Given the description of an element on the screen output the (x, y) to click on. 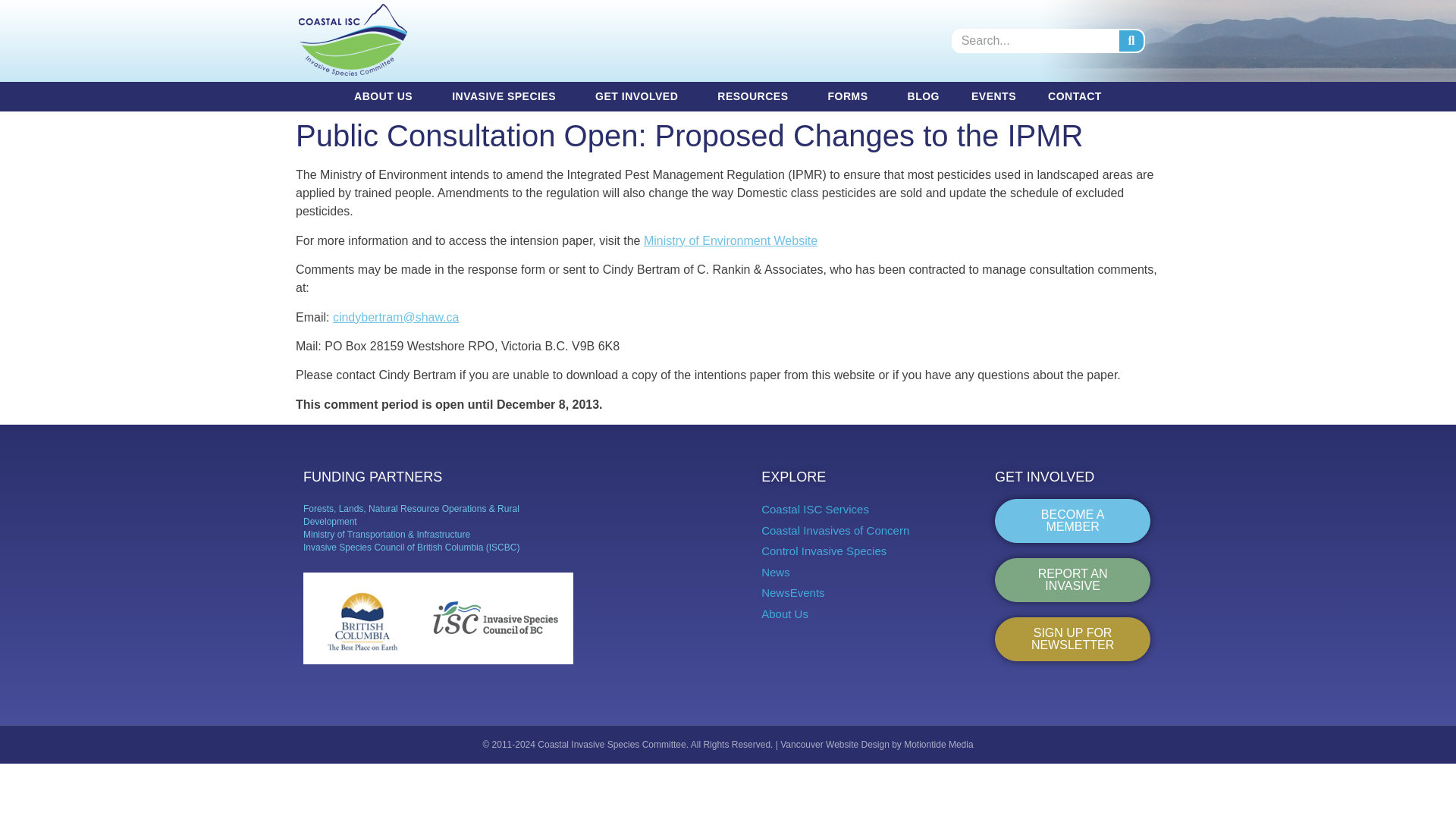
ABOUT US (386, 96)
GET INVOLVED (640, 96)
RESOURCES (755, 96)
INVASIVE SPECIES (507, 96)
FORMS (850, 96)
